Given the description of an element on the screen output the (x, y) to click on. 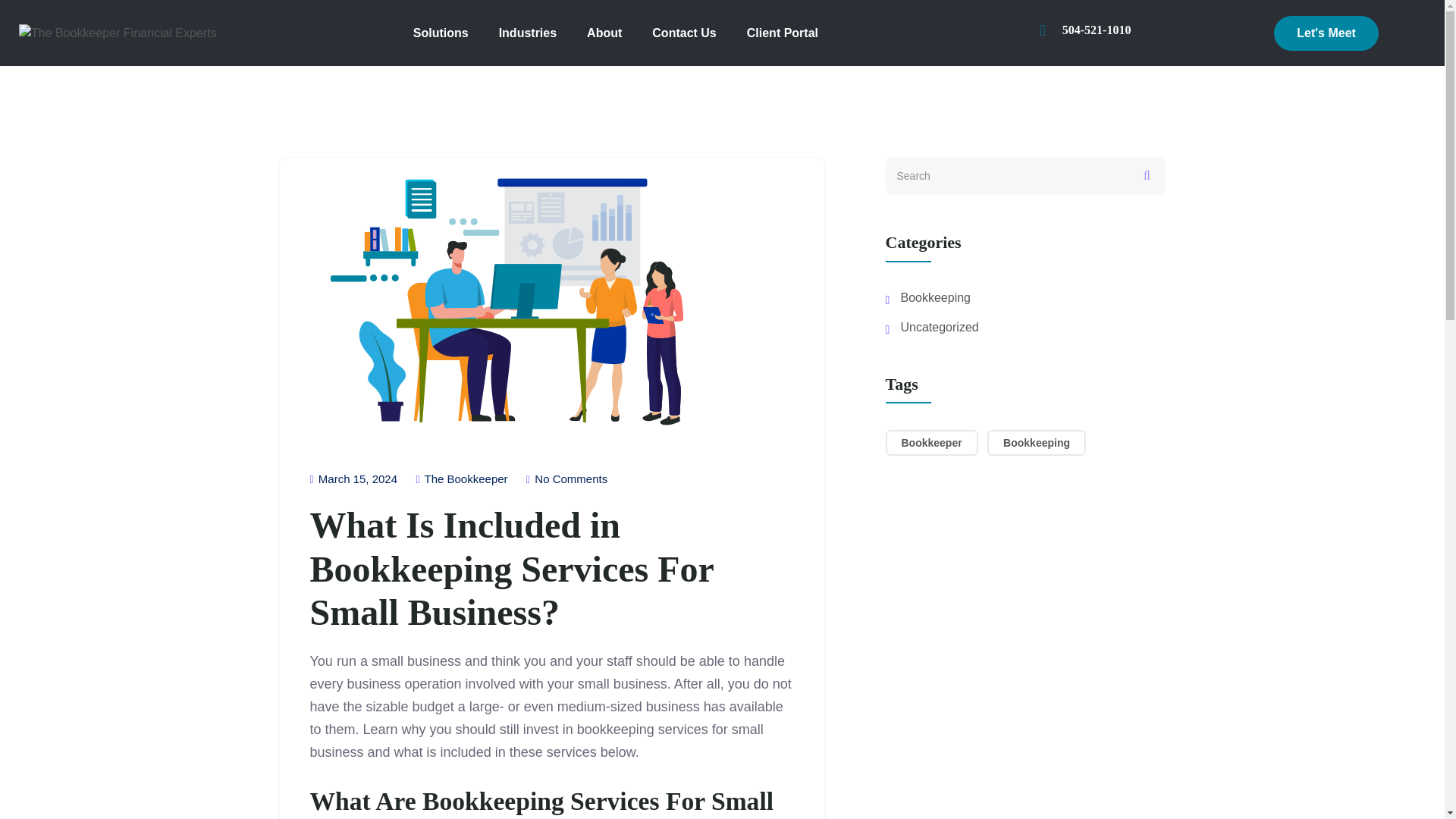
Industries (527, 32)
Bookkeeping Solutions (440, 32)
About (604, 32)
About The Bookkeeper (604, 32)
The Bookkeeper (460, 478)
Contact The Bookkeeper (683, 32)
Industries  (527, 32)
Contact Us (683, 32)
Let's Meet (1326, 32)
Solutions (440, 32)
The Bookkeeper Financial Experts (117, 33)
No Comments (566, 478)
504-521-1010 (1096, 29)
Client Portal (782, 32)
